Given the description of an element on the screen output the (x, y) to click on. 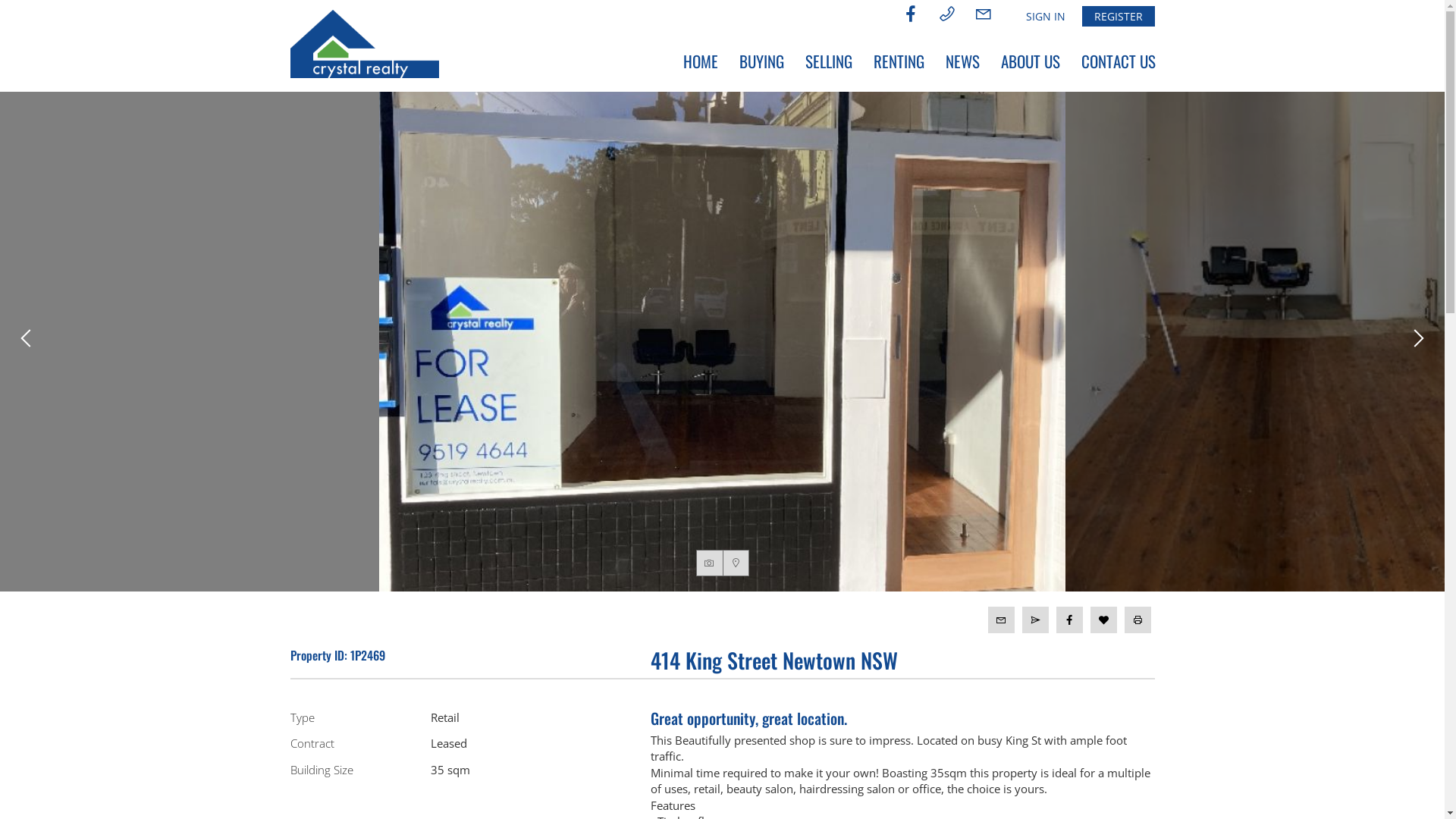
Email to Agent Element type: hover (1000, 619)
NEWS Element type: text (961, 61)
BUYING Element type: text (760, 61)
HOME Element type: text (699, 61)
Email to Friend Element type: hover (1035, 619)
SIGN IN Element type: text (1044, 16)
ABOUT US Element type: text (1030, 61)
CONTACT US Element type: text (1118, 61)
REGISTER Element type: text (1117, 16)
SELLING Element type: text (828, 61)
RENTING Element type: text (898, 61)
